Given the description of an element on the screen output the (x, y) to click on. 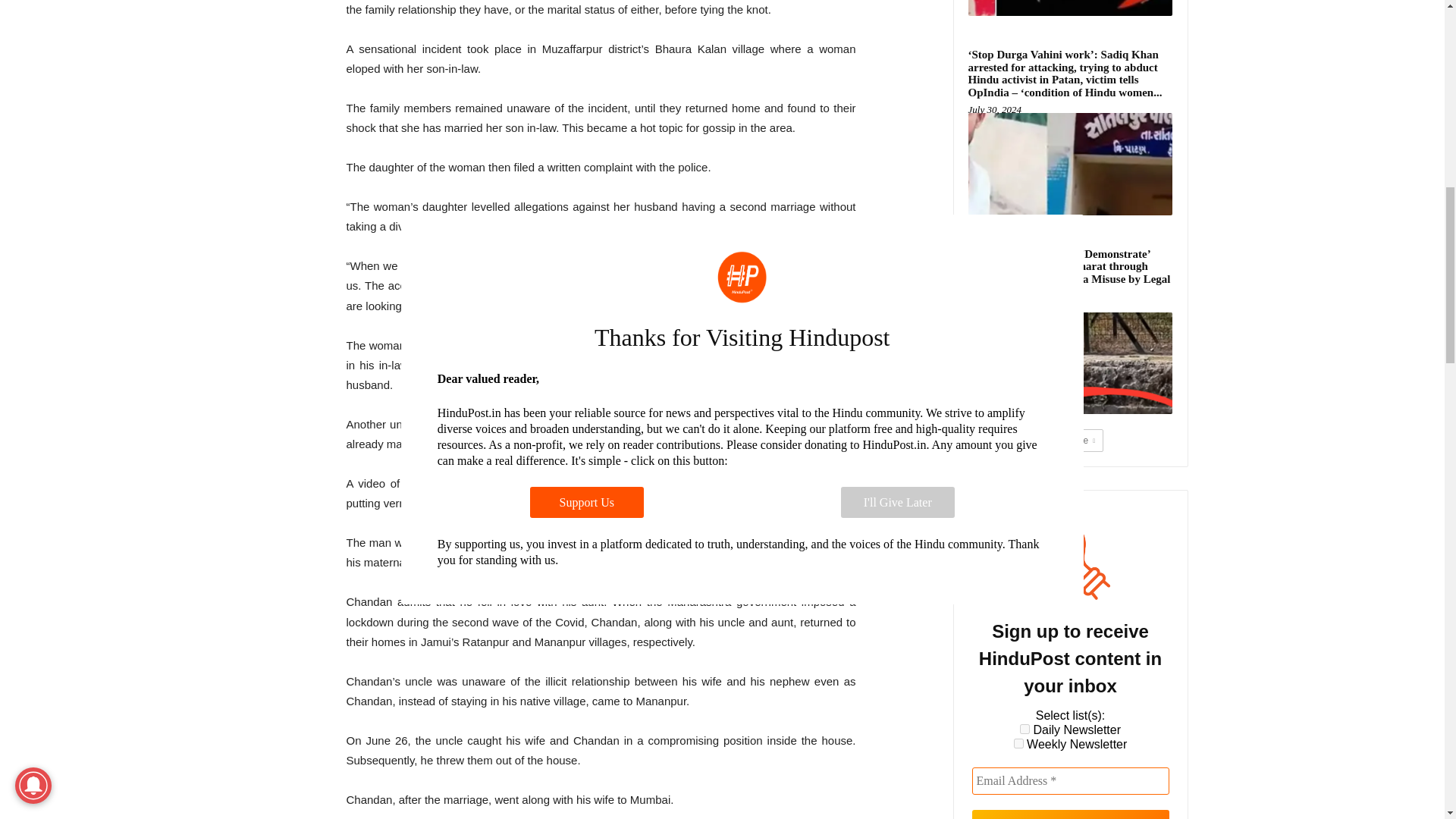
Sign Up! (1070, 814)
3 (1024, 728)
9 (1018, 743)
